Given the description of an element on the screen output the (x, y) to click on. 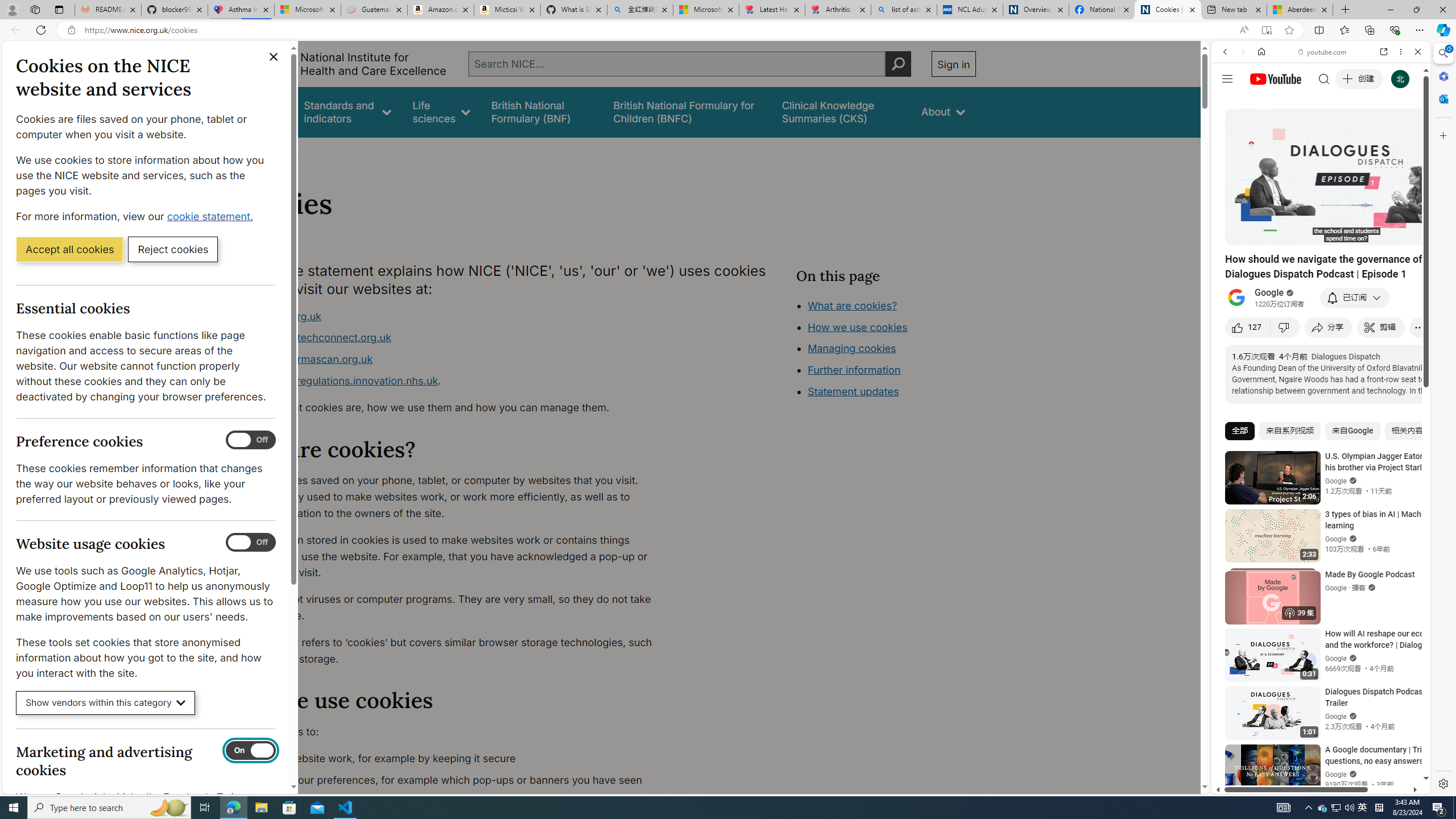
Aberdeen, Hong Kong SAR hourly forecast | Microsoft Weather (1300, 9)
Search videos from youtube.com (1299, 373)
YouTube (1315, 655)
Guidance (260, 111)
cookie statement. (Opens in a new window) (211, 215)
US[ju] (1249, 785)
www.ukpharmascan.org.uk (452, 359)
Home> (246, 152)
Search Filter, IMAGES (1262, 129)
